Given the description of an element on the screen output the (x, y) to click on. 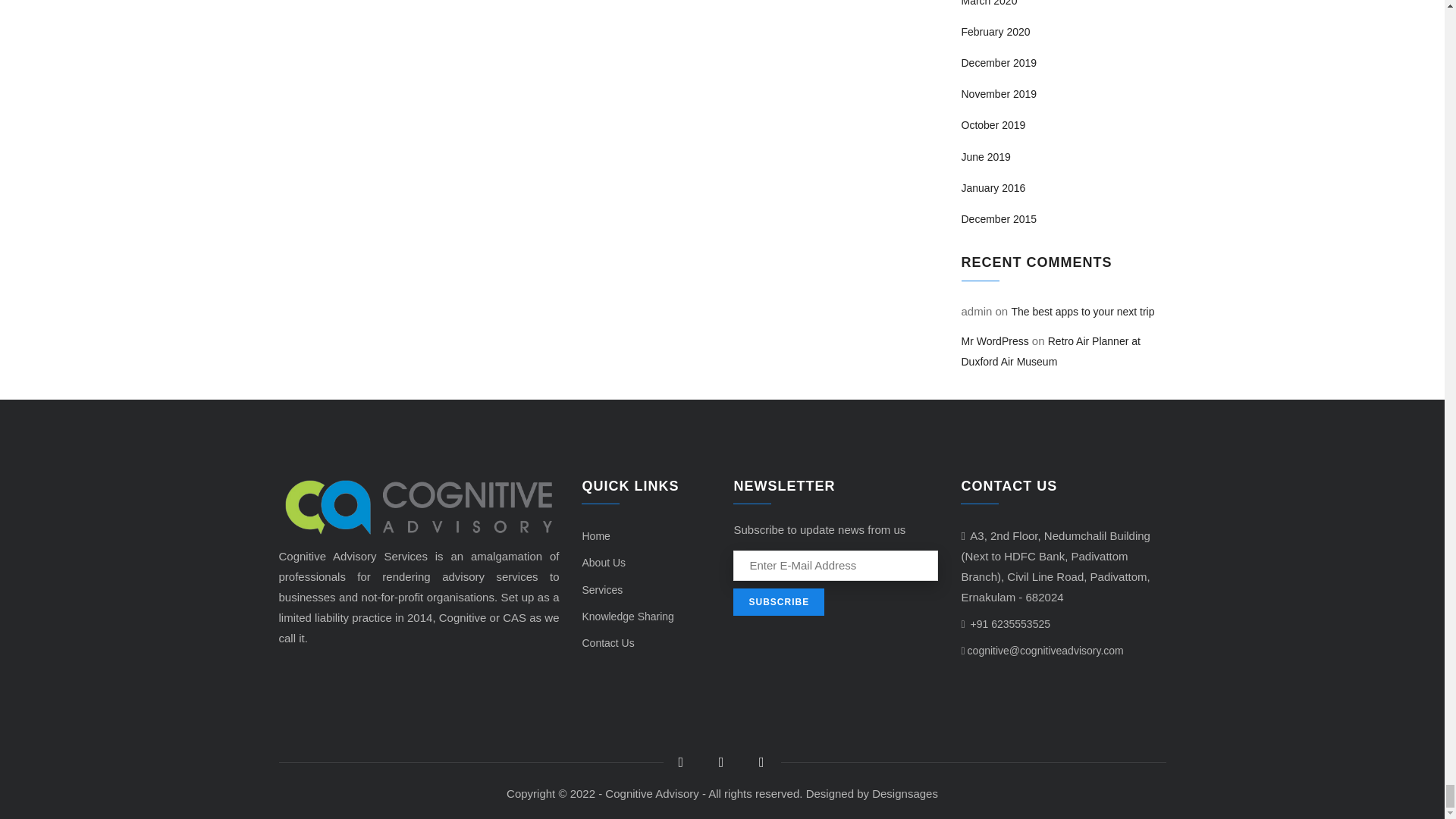
logo-nbg (419, 506)
Subscribe (778, 601)
